Given the description of an element on the screen output the (x, y) to click on. 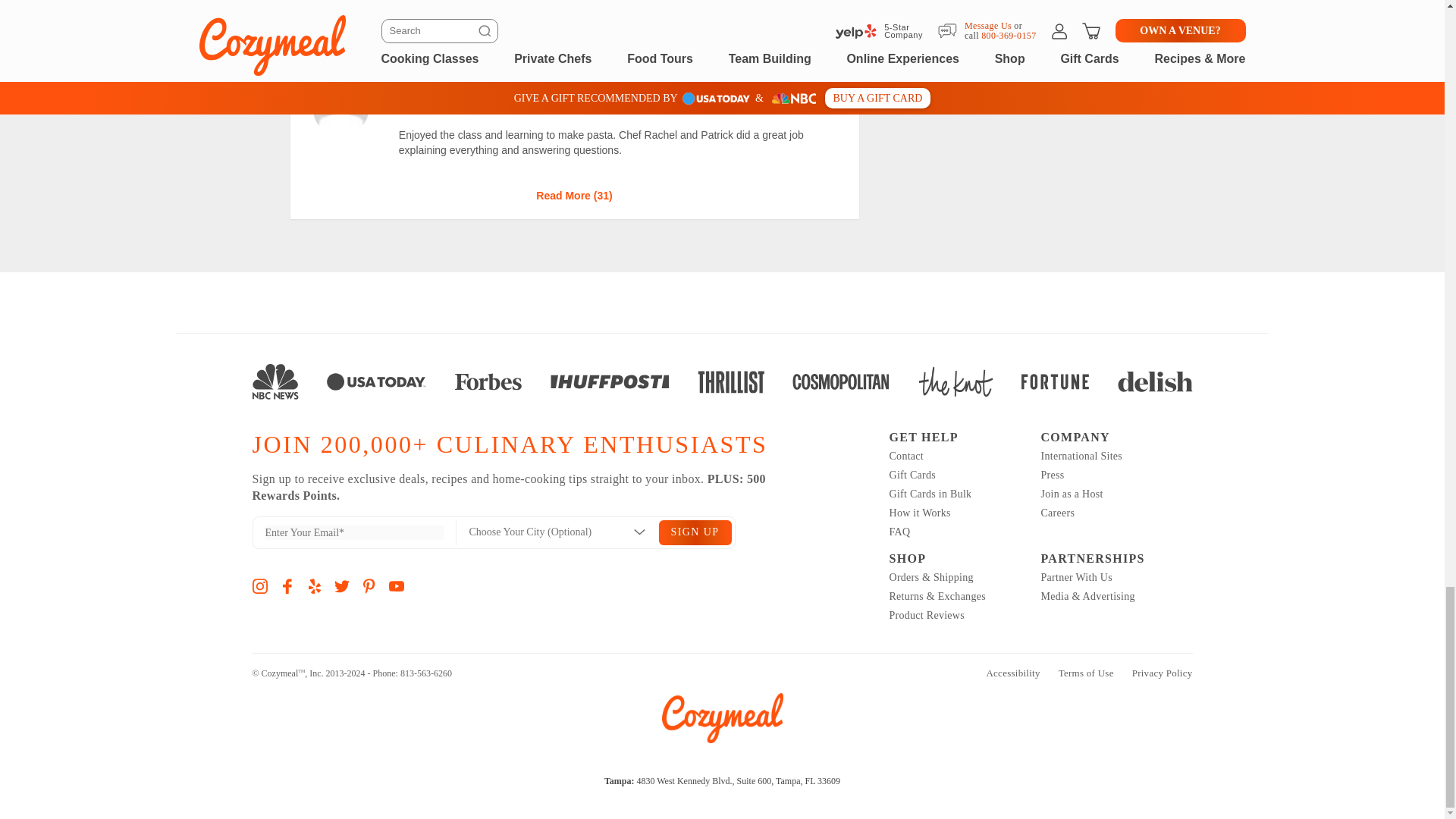
Pinterest (368, 586)
YouTube (395, 586)
Facebook (286, 586)
Yelp (313, 586)
Twitter (341, 586)
Instagram (258, 586)
